Given the description of an element on the screen output the (x, y) to click on. 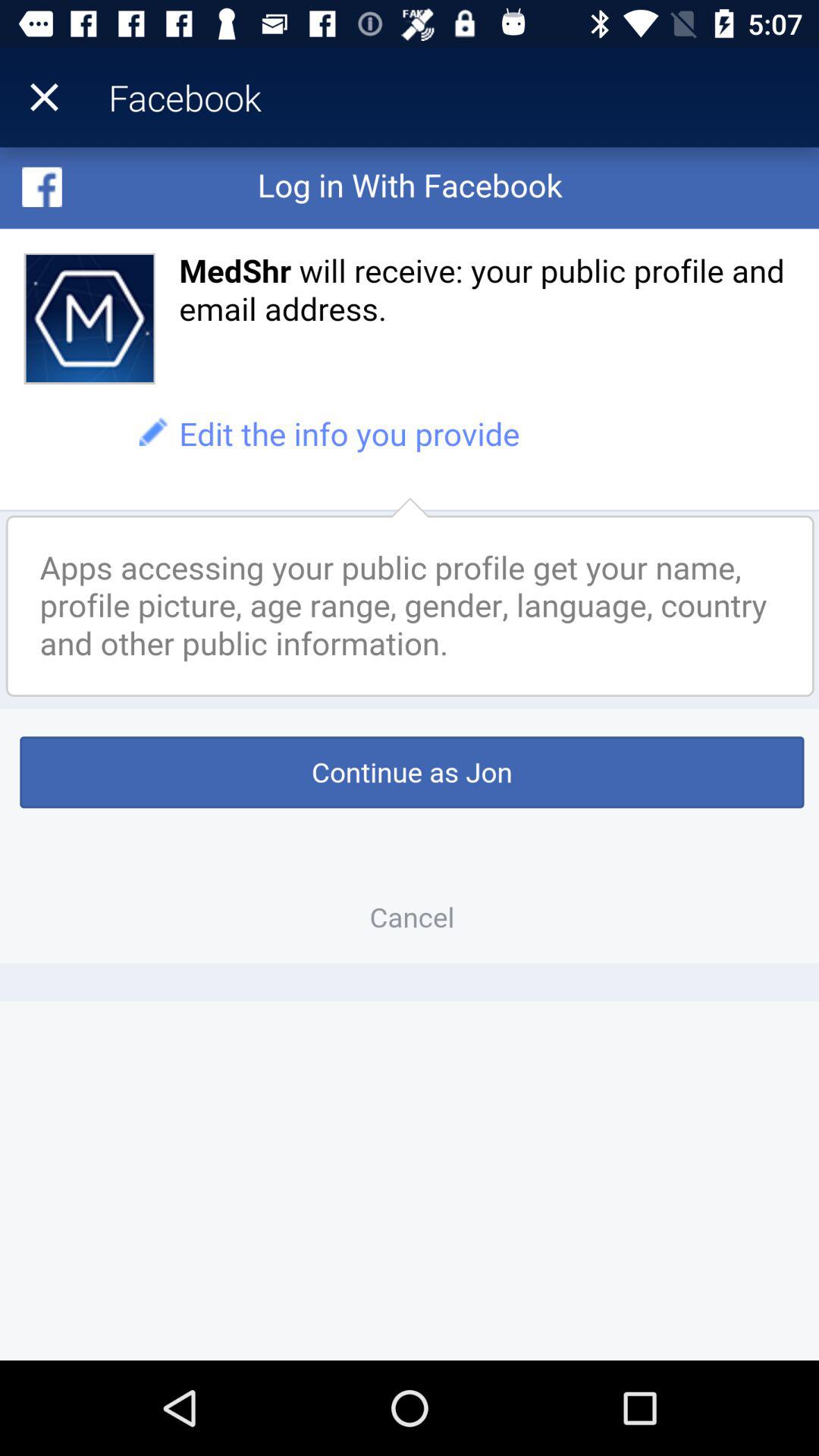
continue in the app (409, 753)
